Given the description of an element on the screen output the (x, y) to click on. 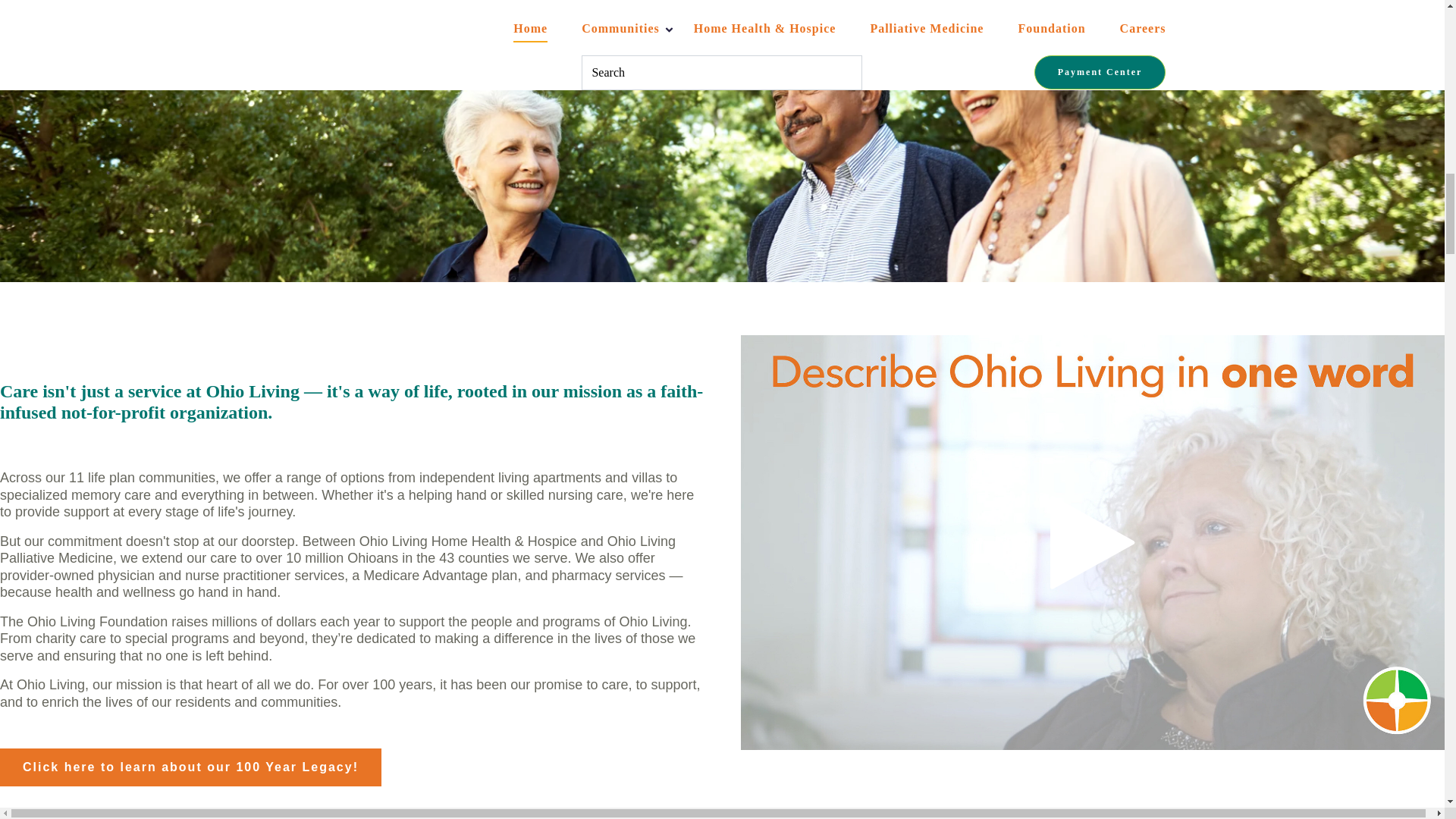
Click here to learn about our 100 Year Legacy! (190, 767)
Click here to learn about our 100 Year Legacy! (190, 767)
